Given the description of an element on the screen output the (x, y) to click on. 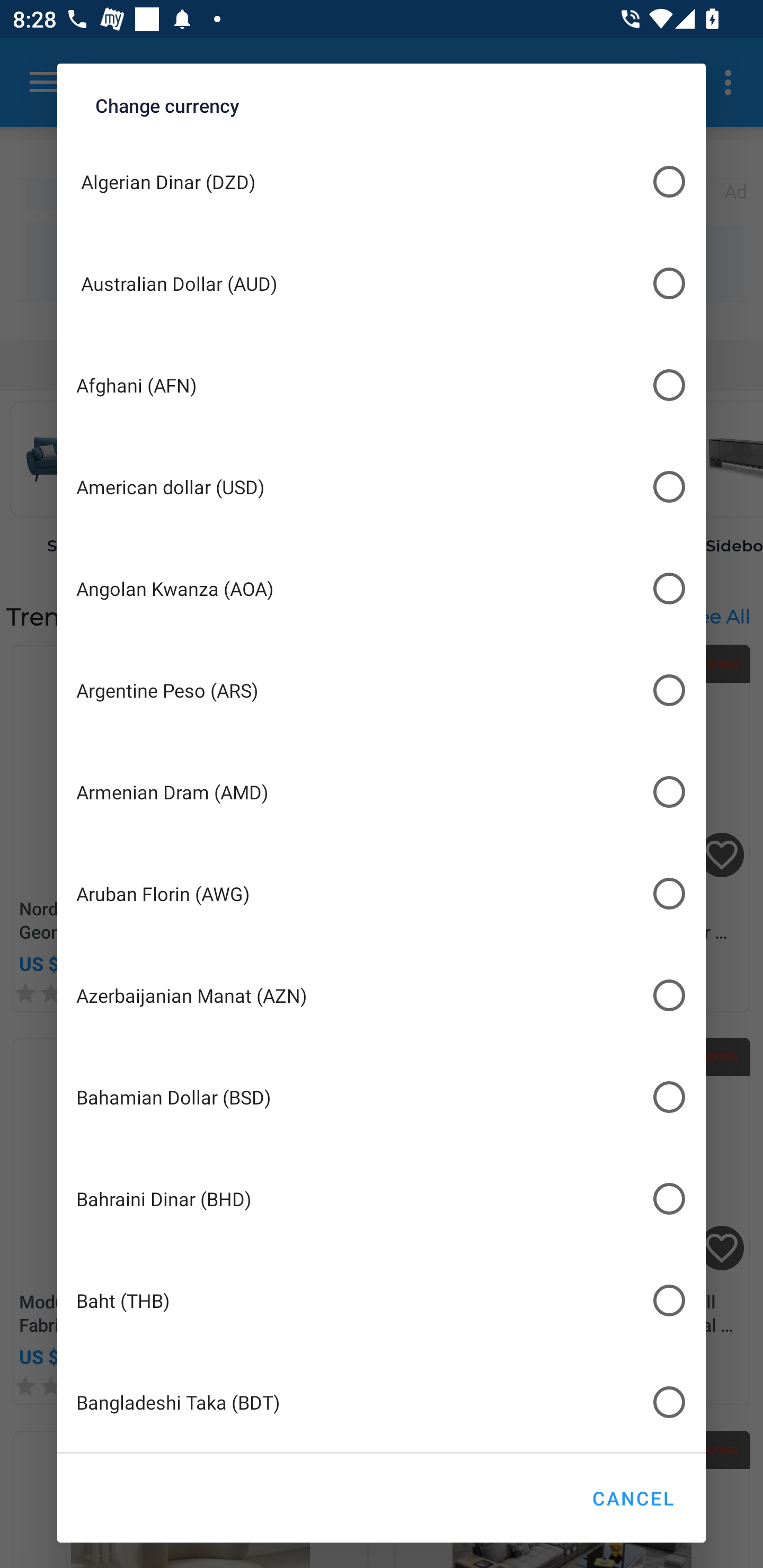
 Algerian Dinar (DZD) (381, 181)
 Australian Dollar (AUD) (381, 282)
Afghani (AFN) (381, 384)
American dollar (USD) (381, 486)
Angolan Kwanza (AOA) (381, 588)
Argentine Peso (ARS) (381, 690)
Armenian Dram (AMD) (381, 792)
Aruban Florin (AWG) (381, 893)
Azerbaijanian Manat (AZN) (381, 994)
Bahamian Dollar (BSD) (381, 1096)
Bahraini Dinar (BHD) (381, 1198)
Baht (THB) (381, 1300)
Bangladeshi Taka (BDT) (381, 1402)
CANCEL (632, 1497)
